Given the description of an element on the screen output the (x, y) to click on. 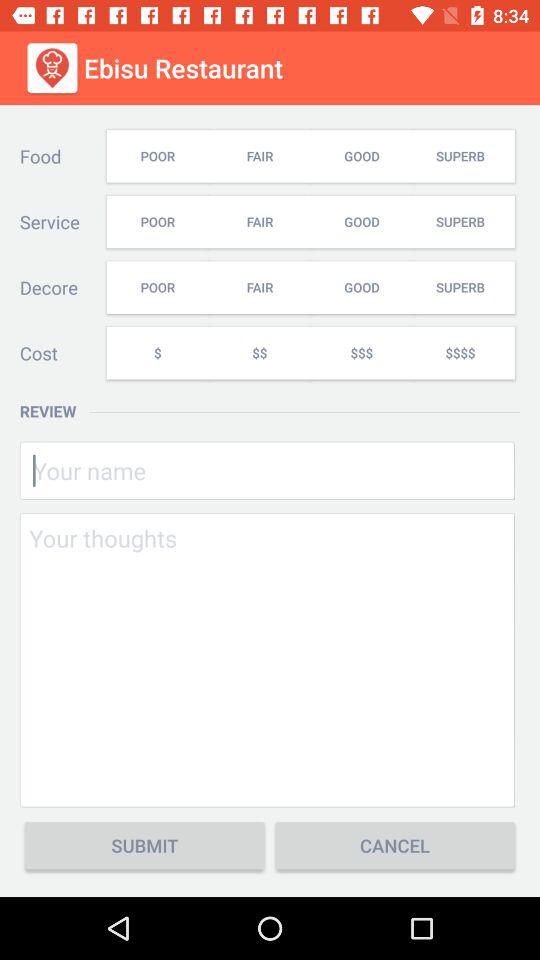
scroll to submit icon (144, 845)
